Given the description of an element on the screen output the (x, y) to click on. 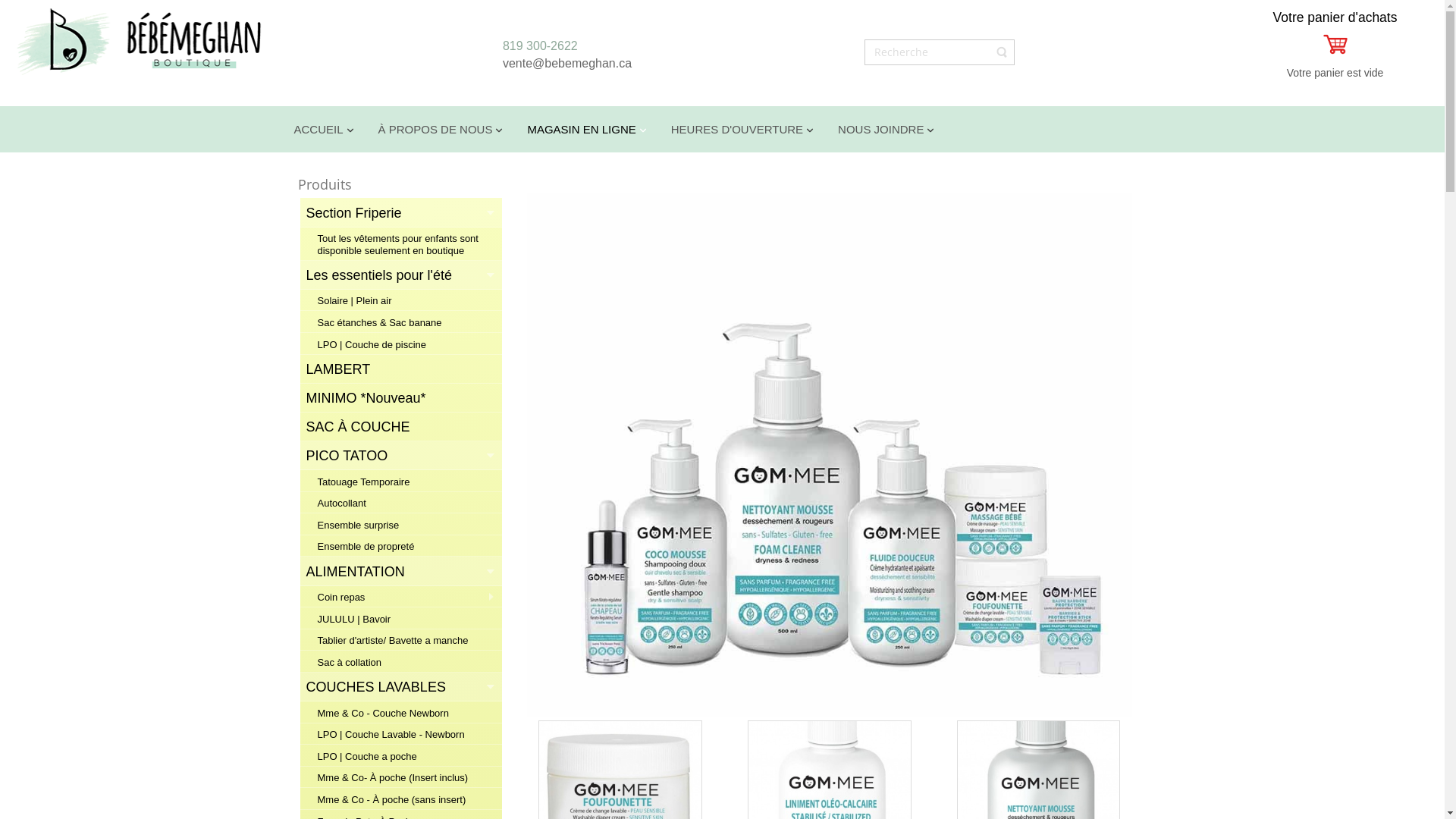
NOUS JOINDRE Element type: text (885, 129)
Ensemble surprise Element type: text (399, 524)
LPO | Couche a poche Element type: text (399, 755)
JULULU | Bavoir Element type: text (399, 618)
ALIMENTATION Element type: text (394, 571)
Coin repas Element type: text (399, 596)
Solaire | Plein air Element type: text (399, 300)
vente@bebemeghan.ca Element type: text (566, 62)
ACCUEIL Element type: text (323, 129)
LPO | Couche Lavable - Newborn Element type: text (399, 734)
LPO | Couche de piscine Element type: text (399, 344)
Autocollant Element type: text (399, 502)
Tablier d'artiste/ Bavette a manche Element type: text (399, 639)
MINIMO *Nouveau* Element type: text (394, 397)
COUCHES LAVABLES Element type: text (394, 686)
LAMBERT Element type: text (394, 368)
Mme & Co - Couche Newborn Element type: text (399, 712)
Section Friperie Element type: text (394, 212)
Tatouage Temporaire Element type: text (399, 481)
HEURES D'OUVERTURE Element type: text (742, 129)
MAGASIN EN LIGNE Element type: text (586, 129)
PICO TATOO Element type: text (394, 455)
